Given the description of an element on the screen output the (x, y) to click on. 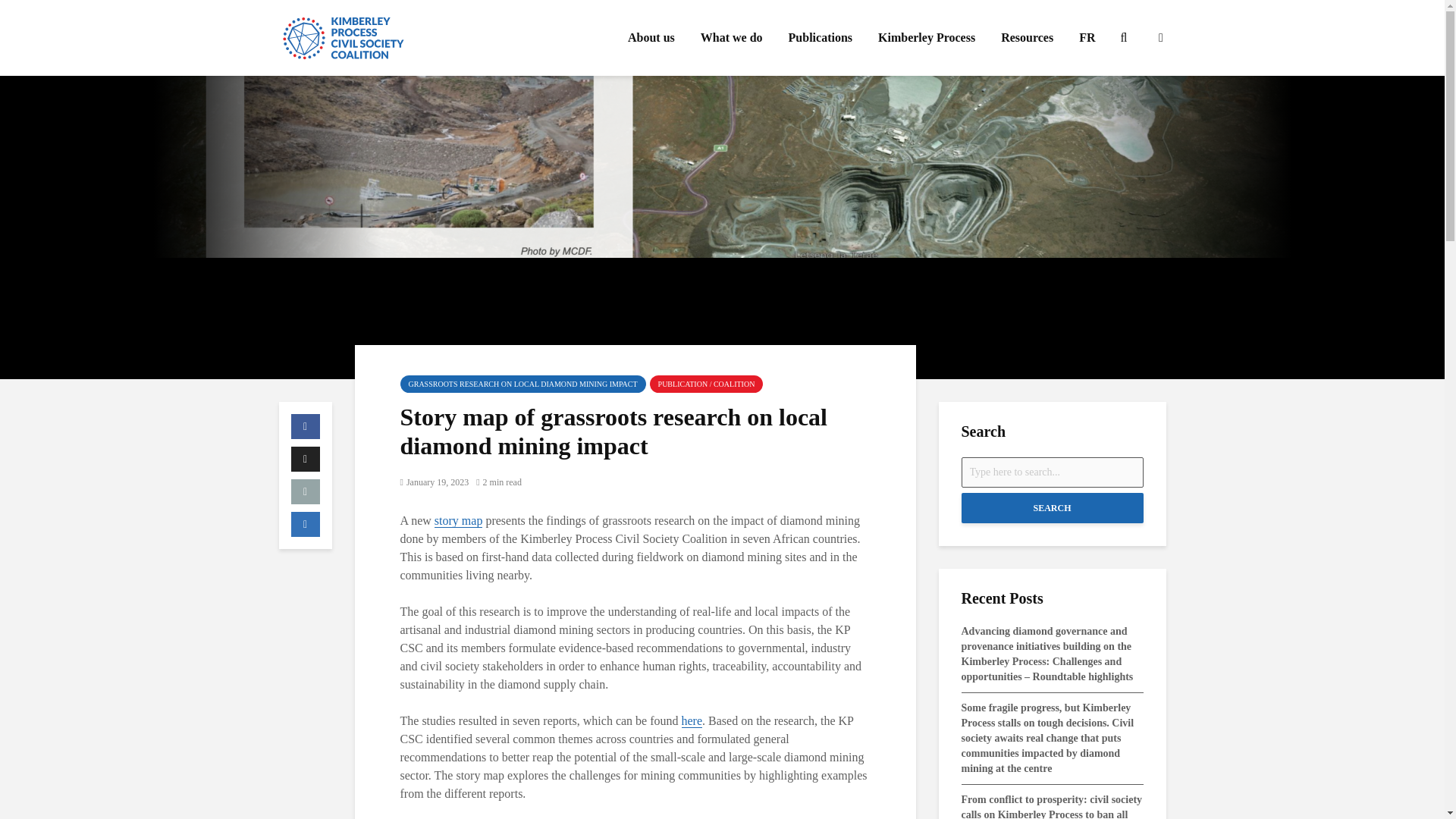
About us (650, 37)
What we do (731, 37)
FR (1086, 37)
FR (1086, 37)
GRASSROOTS RESEARCH ON LOCAL DIAMOND MINING IMPACT (523, 384)
Kimberley Process (926, 37)
Resources (1027, 37)
story map (458, 520)
here (692, 721)
Publications (820, 37)
